Given the description of an element on the screen output the (x, y) to click on. 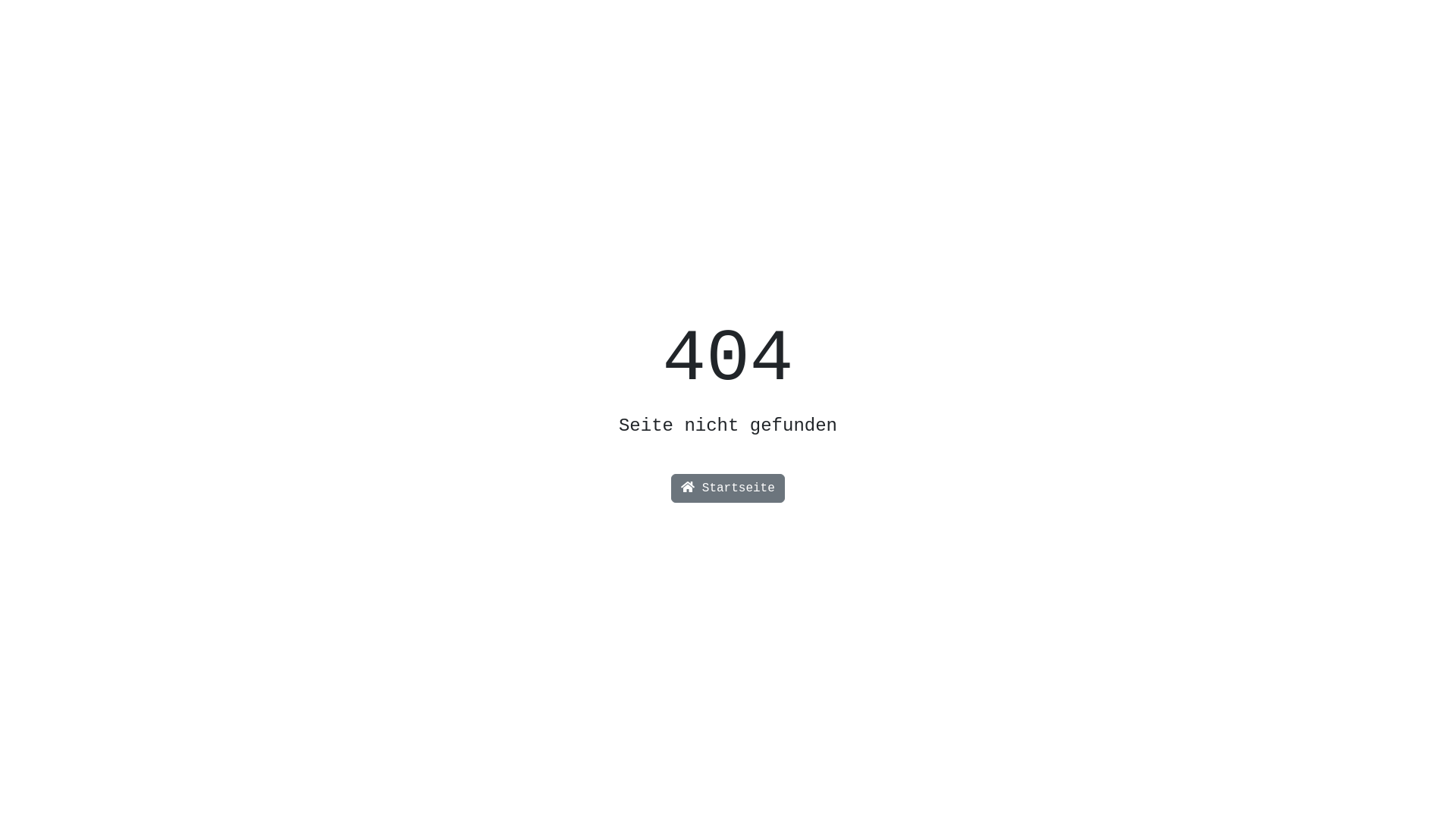
Startseite Element type: text (727, 487)
